Given the description of an element on the screen output the (x, y) to click on. 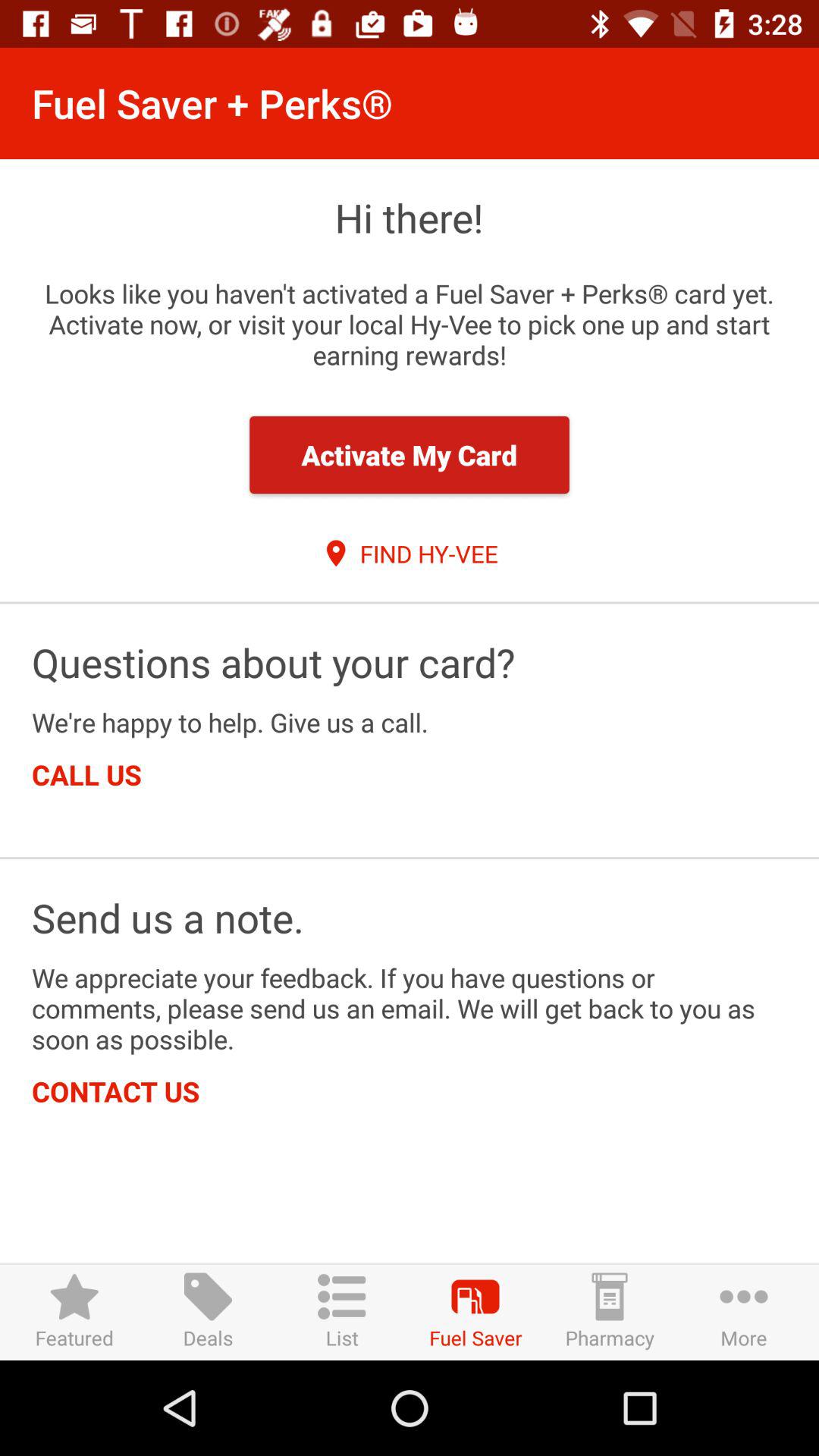
open featured item (74, 1311)
